Given the description of an element on the screen output the (x, y) to click on. 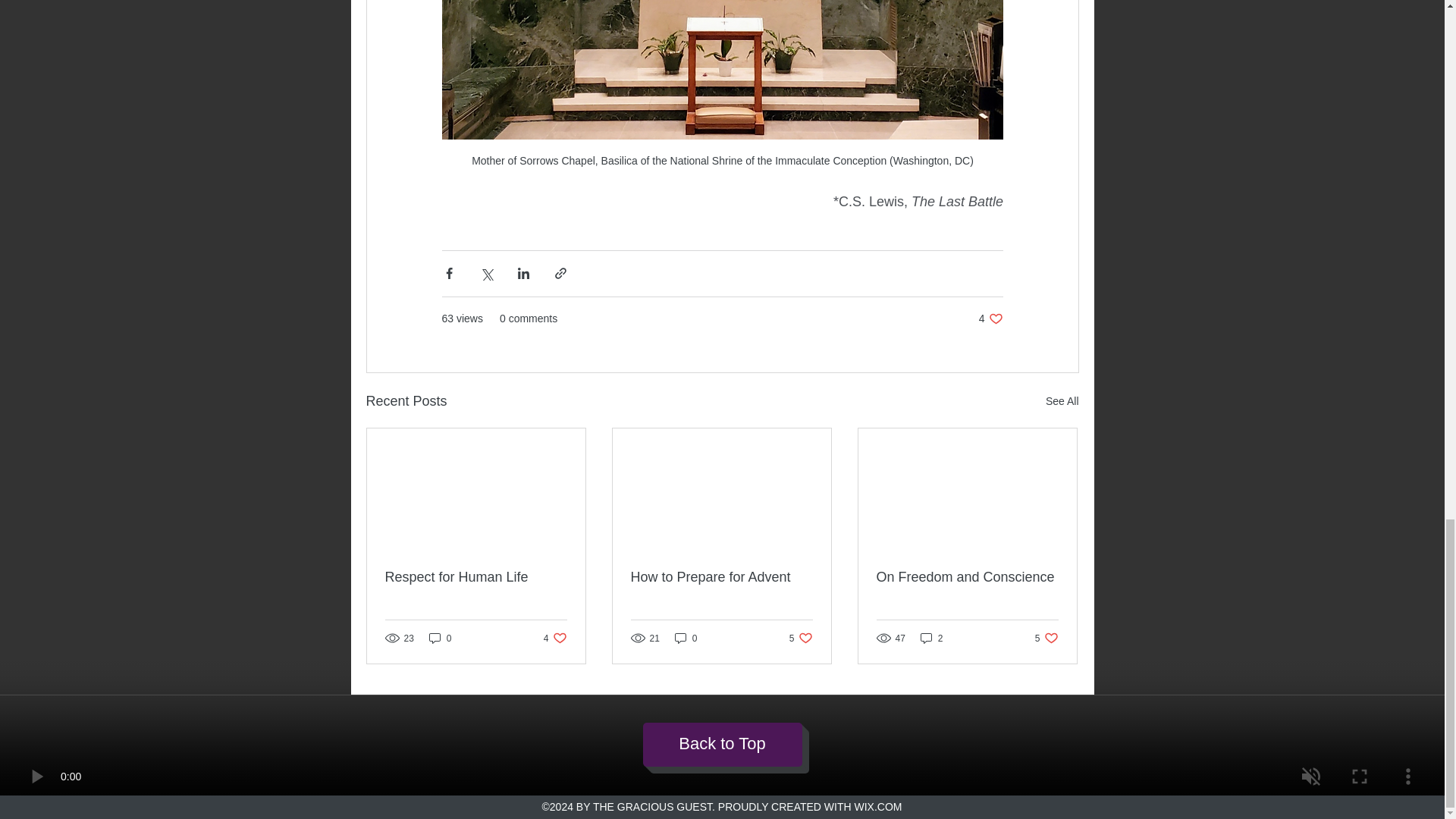
See All (800, 637)
0 (1061, 401)
2 (440, 637)
Respect for Human Life (931, 637)
0 (990, 318)
On Freedom and Conscience (1046, 637)
How to Prepare for Advent (476, 577)
Back to Top (685, 637)
